Given the description of an element on the screen output the (x, y) to click on. 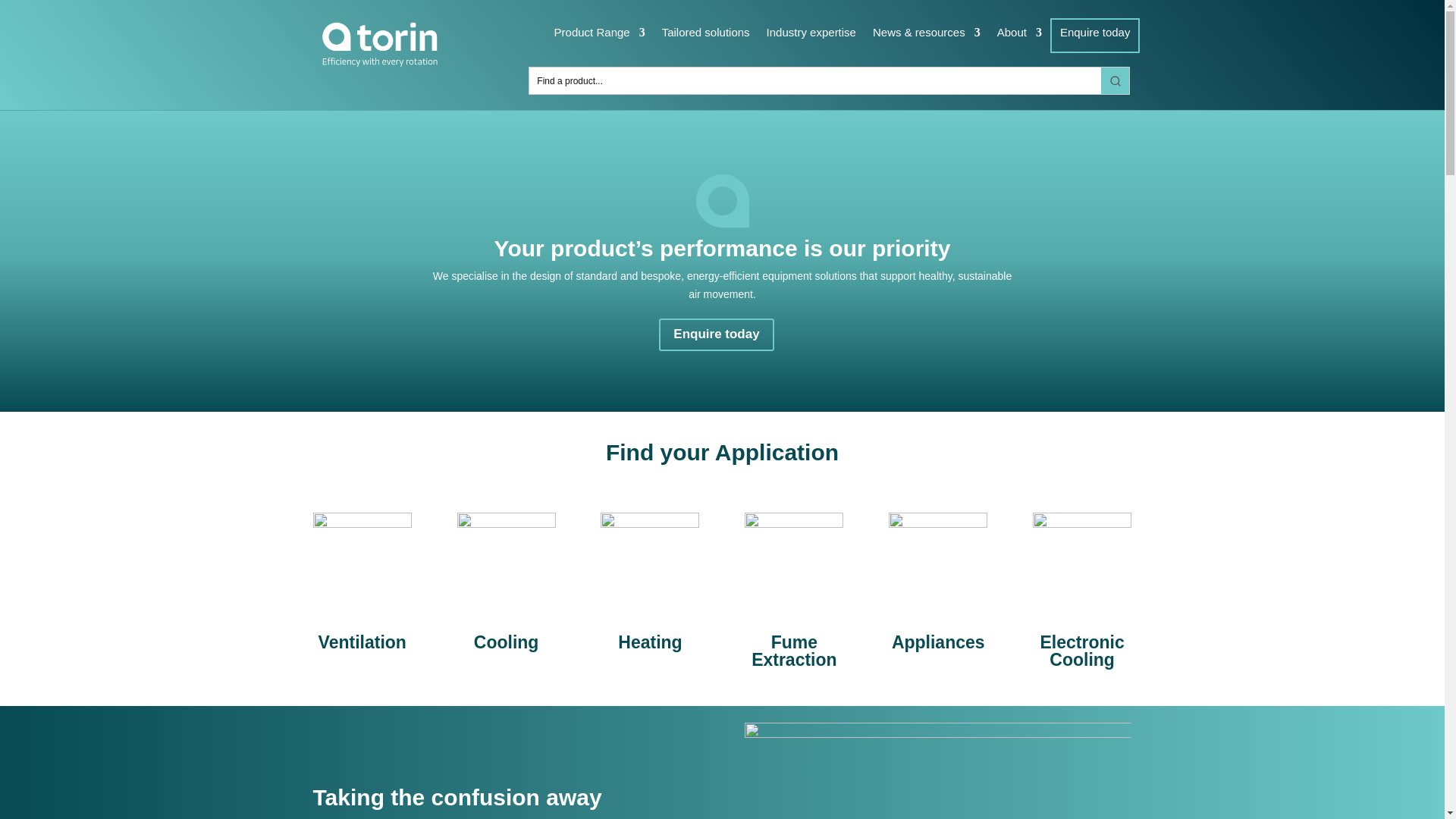
Industry expertise (811, 40)
Torin-Logo-with-Strapline---White (378, 44)
Torin-Heating-Icon (648, 561)
Tailored solutions (705, 40)
Product Range (599, 40)
Find a product... (814, 80)
Torin-Ventillation-Icon (362, 561)
Enquire today (1095, 35)
Man-crossed-arms.jpg (937, 770)
Torin-Electrical-Icon (1081, 561)
